Given the description of an element on the screen output the (x, y) to click on. 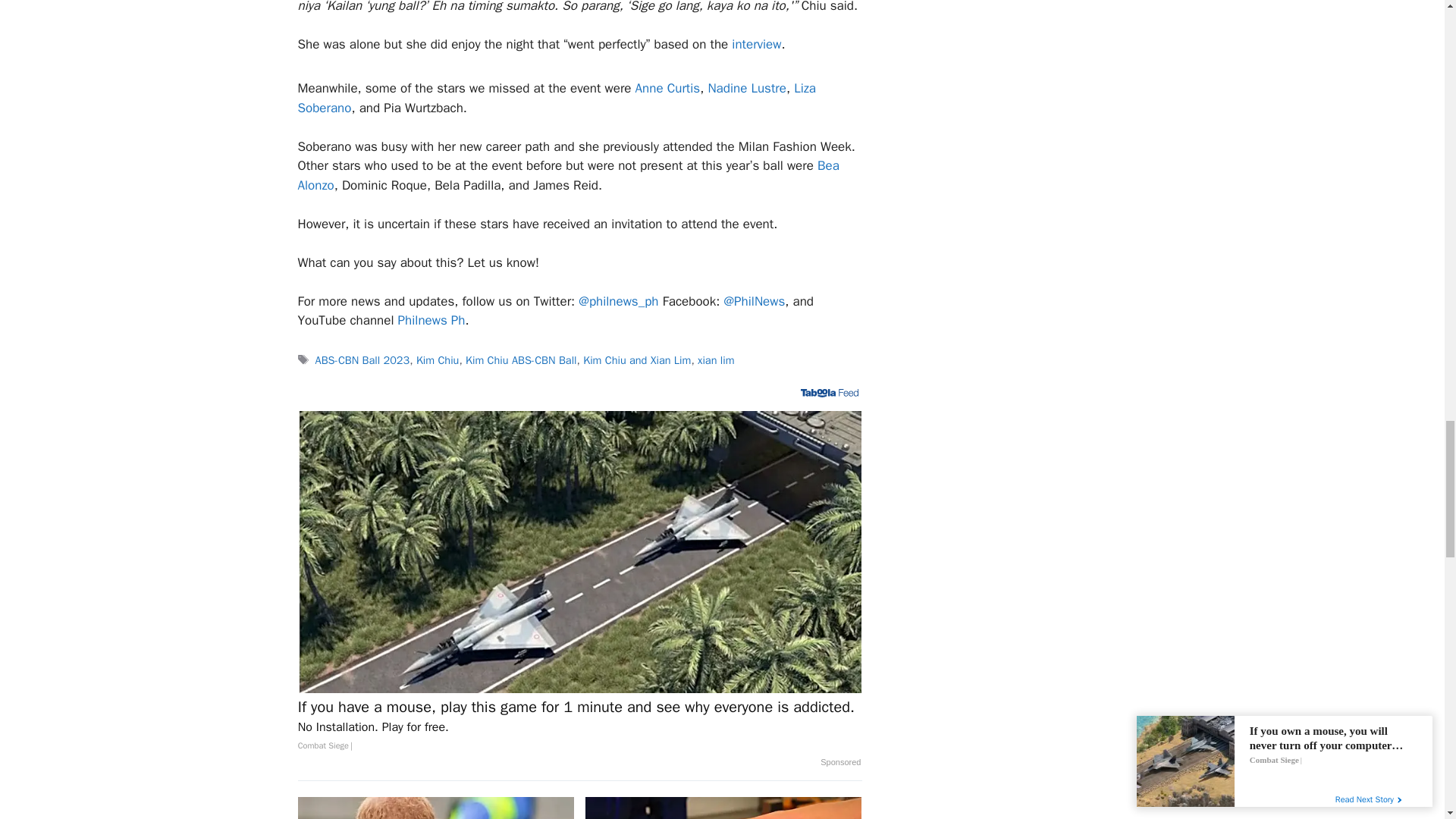
"Description: No Installation. Play for free." (579, 727)
